Given the description of an element on the screen output the (x, y) to click on. 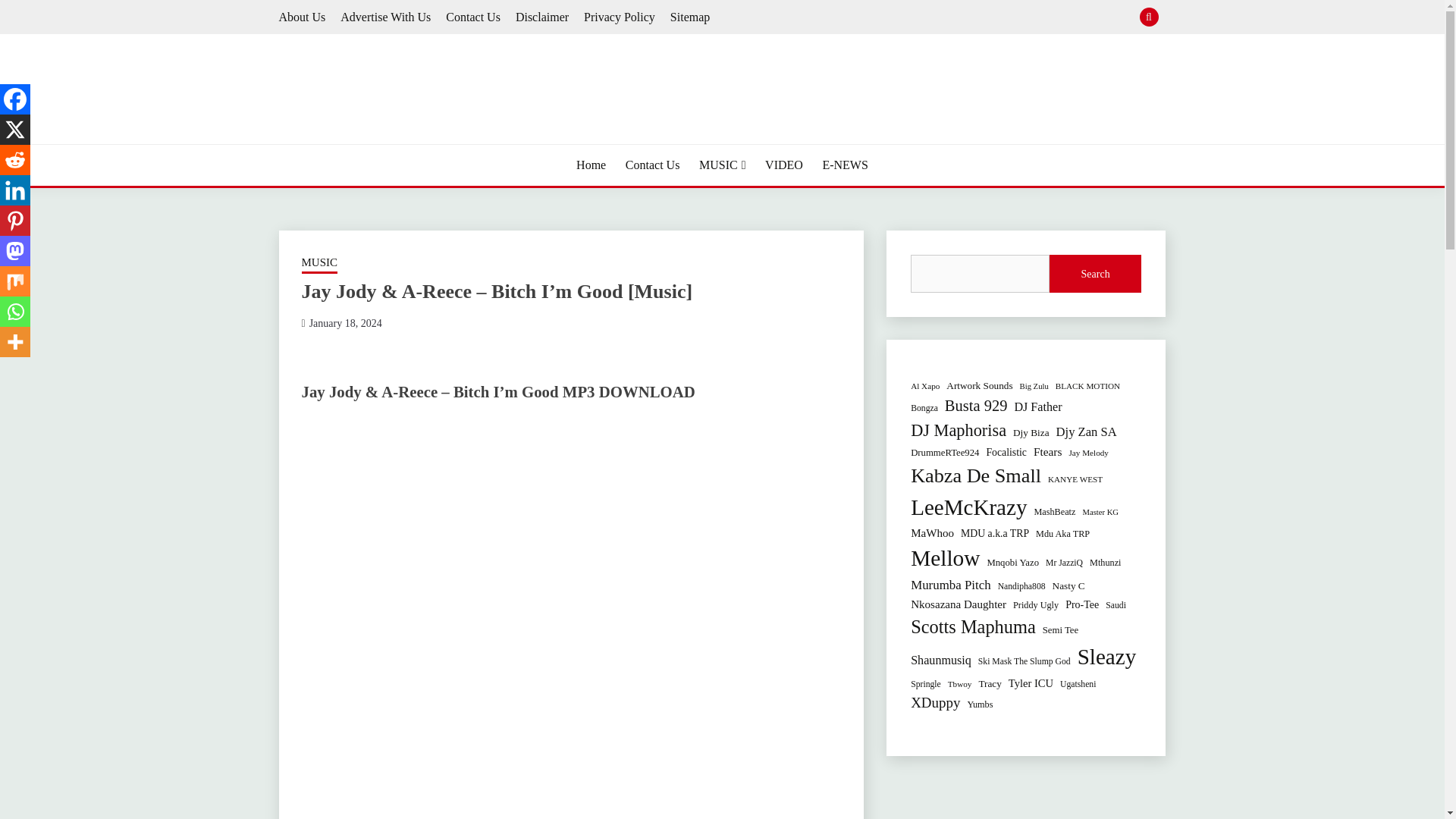
Contact Us (472, 16)
Contact Us (652, 165)
Sitemap (689, 16)
Linkedin (15, 190)
Privacy Policy (619, 16)
OKAYTUNE (355, 142)
MUSIC (721, 165)
X (15, 129)
VIDEO (784, 165)
Advertise With Us (385, 16)
E-NEWS (844, 165)
MUSIC (319, 263)
January 18, 2024 (344, 323)
Facebook (15, 99)
About Us (302, 16)
